Given the description of an element on the screen output the (x, y) to click on. 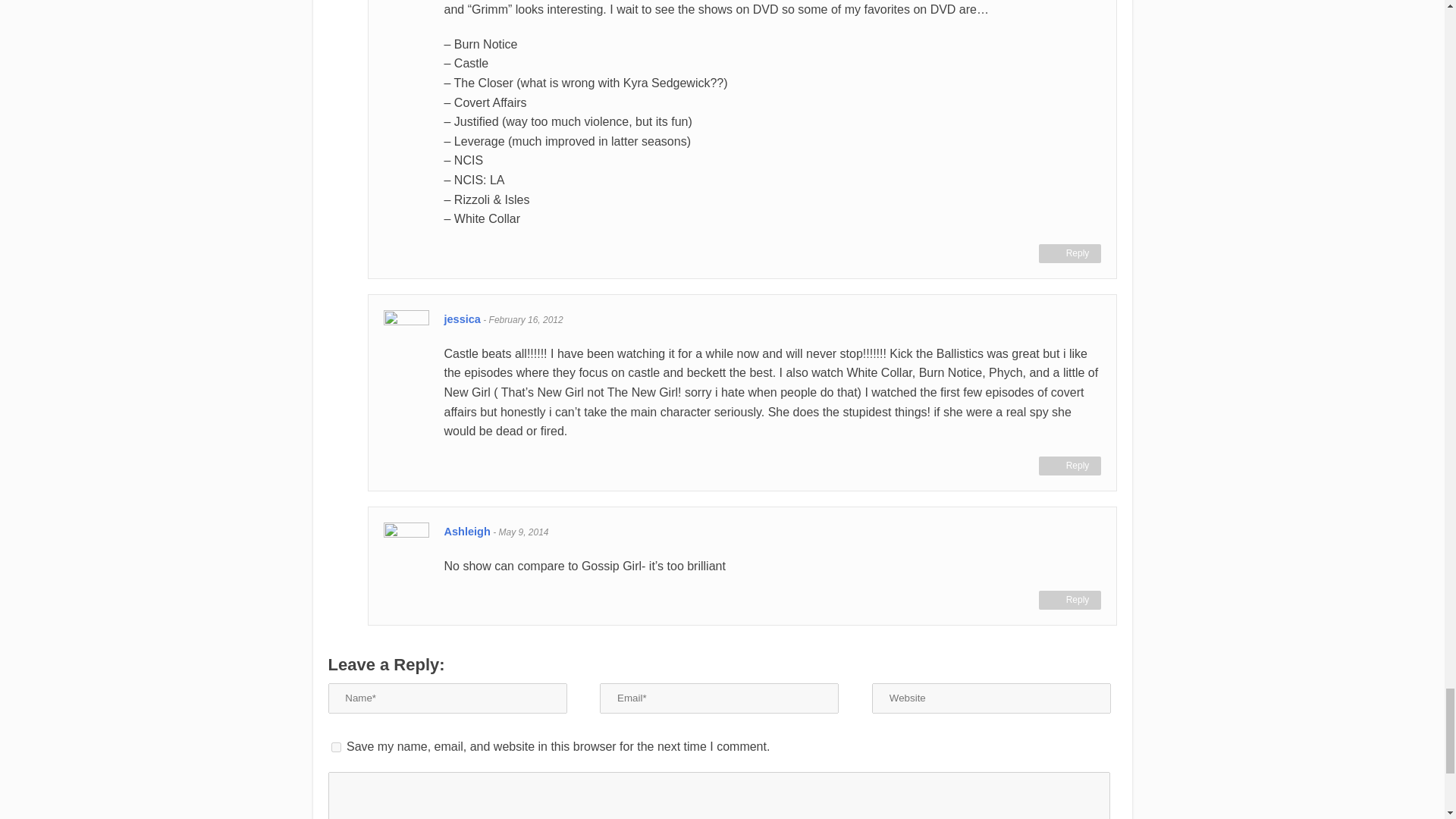
yes (335, 747)
